Given the description of an element on the screen output the (x, y) to click on. 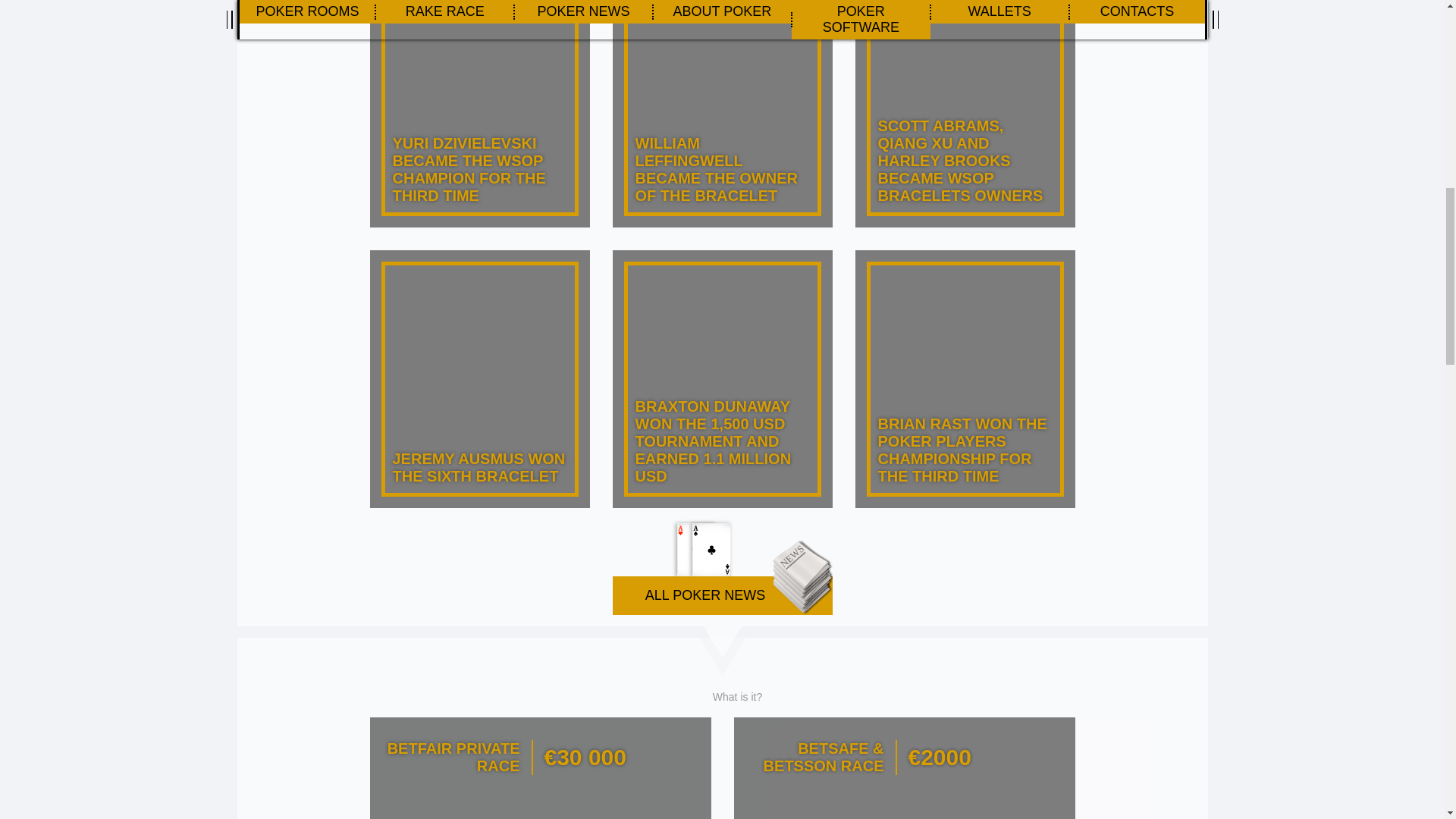
WILLIAM LEFFINGWELL BECAME THE OWNER OF THE BRACELET (722, 113)
ALL POKER NEWS (722, 567)
